Given the description of an element on the screen output the (x, y) to click on. 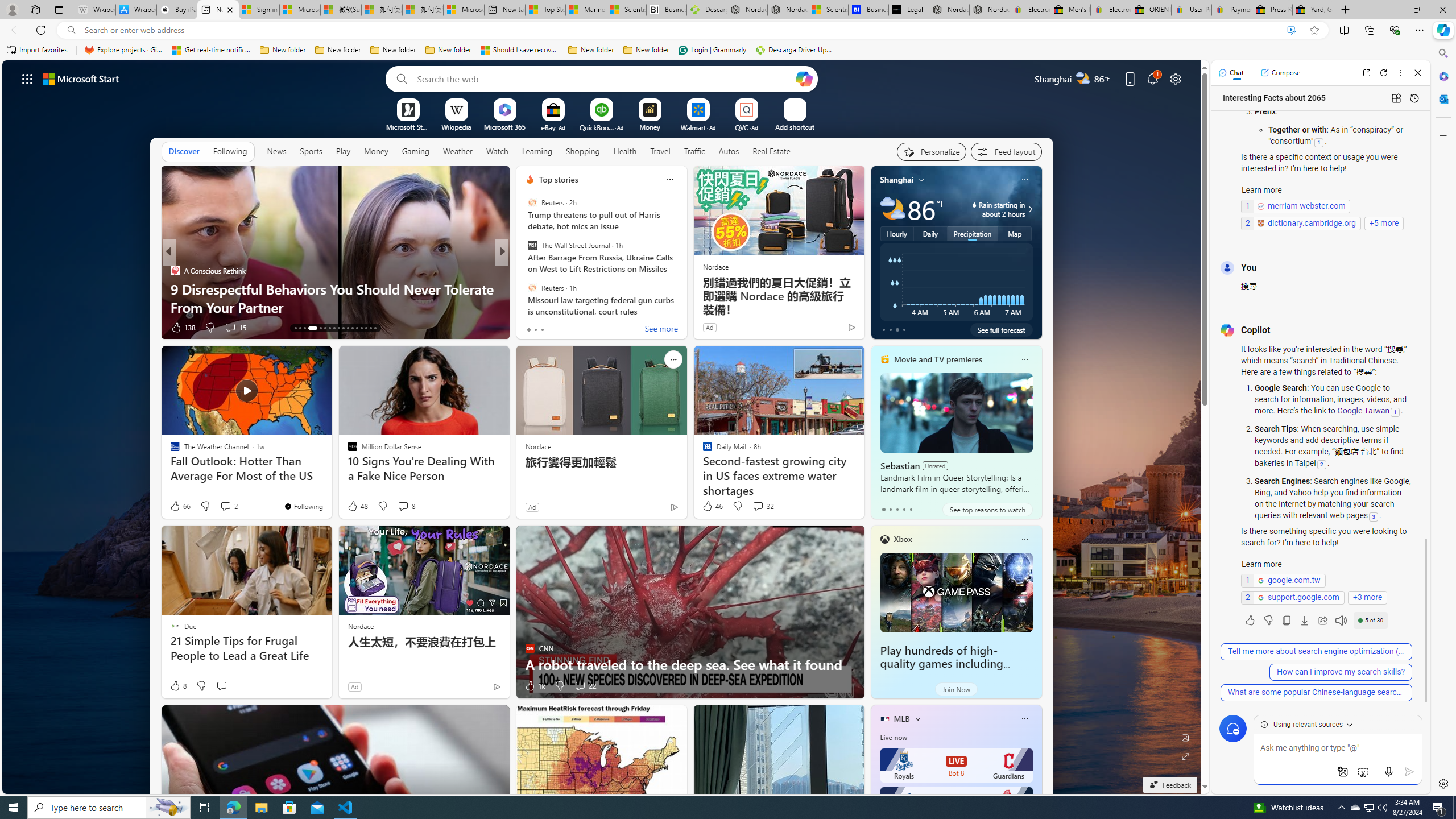
View comments 339 Comment (587, 327)
38 Like (530, 327)
New folder (646, 49)
Reuters (532, 287)
App launcher (27, 78)
View comments 8 Comment (406, 505)
